Given the description of an element on the screen output the (x, y) to click on. 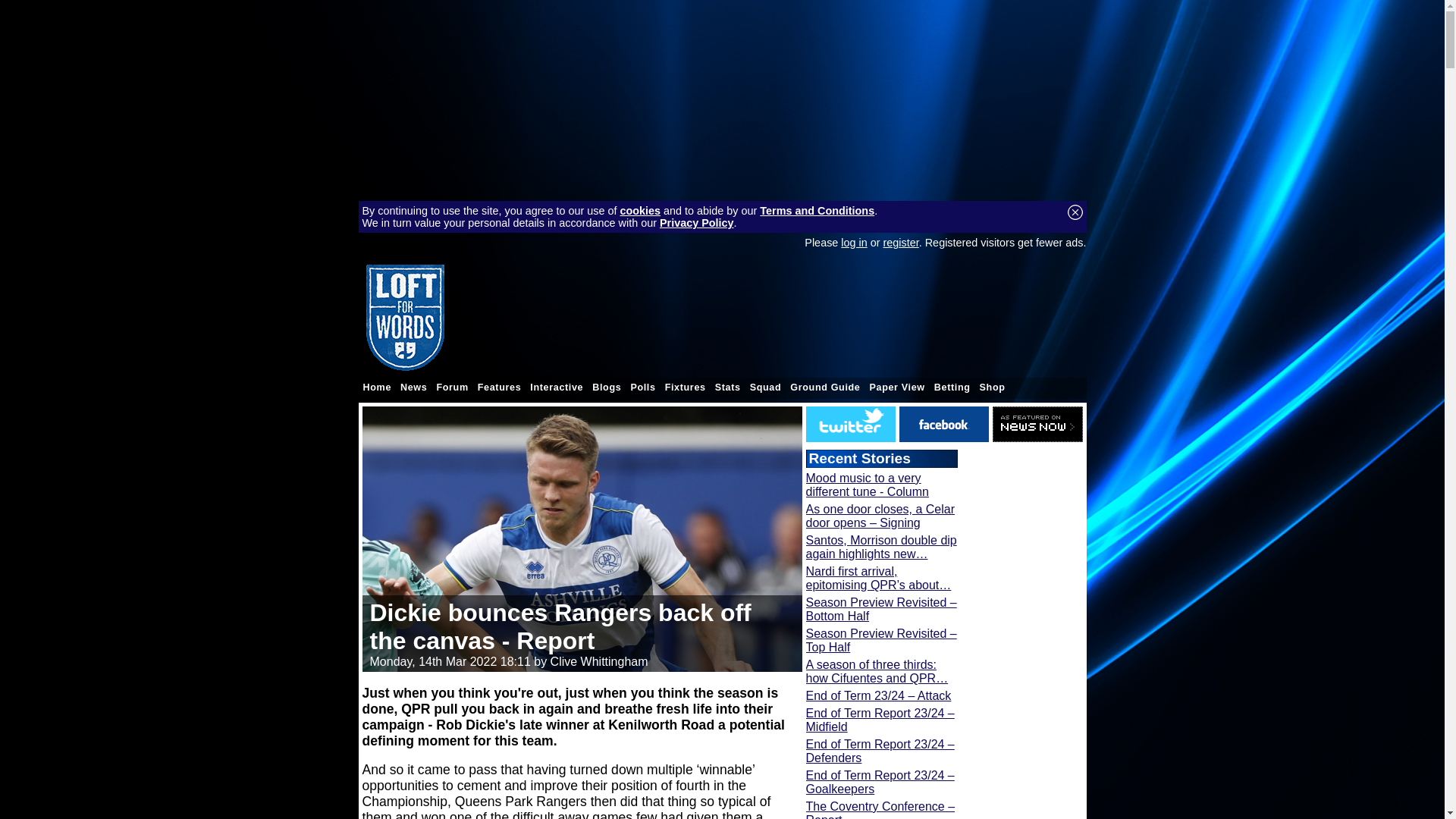
log in (853, 242)
Features (499, 387)
Home (377, 387)
News (413, 387)
Privacy Policy (696, 223)
register (900, 242)
cookies (640, 210)
Forum (450, 387)
Terms and Conditions (817, 210)
3rd party ad content (810, 316)
